Given the description of an element on the screen output the (x, y) to click on. 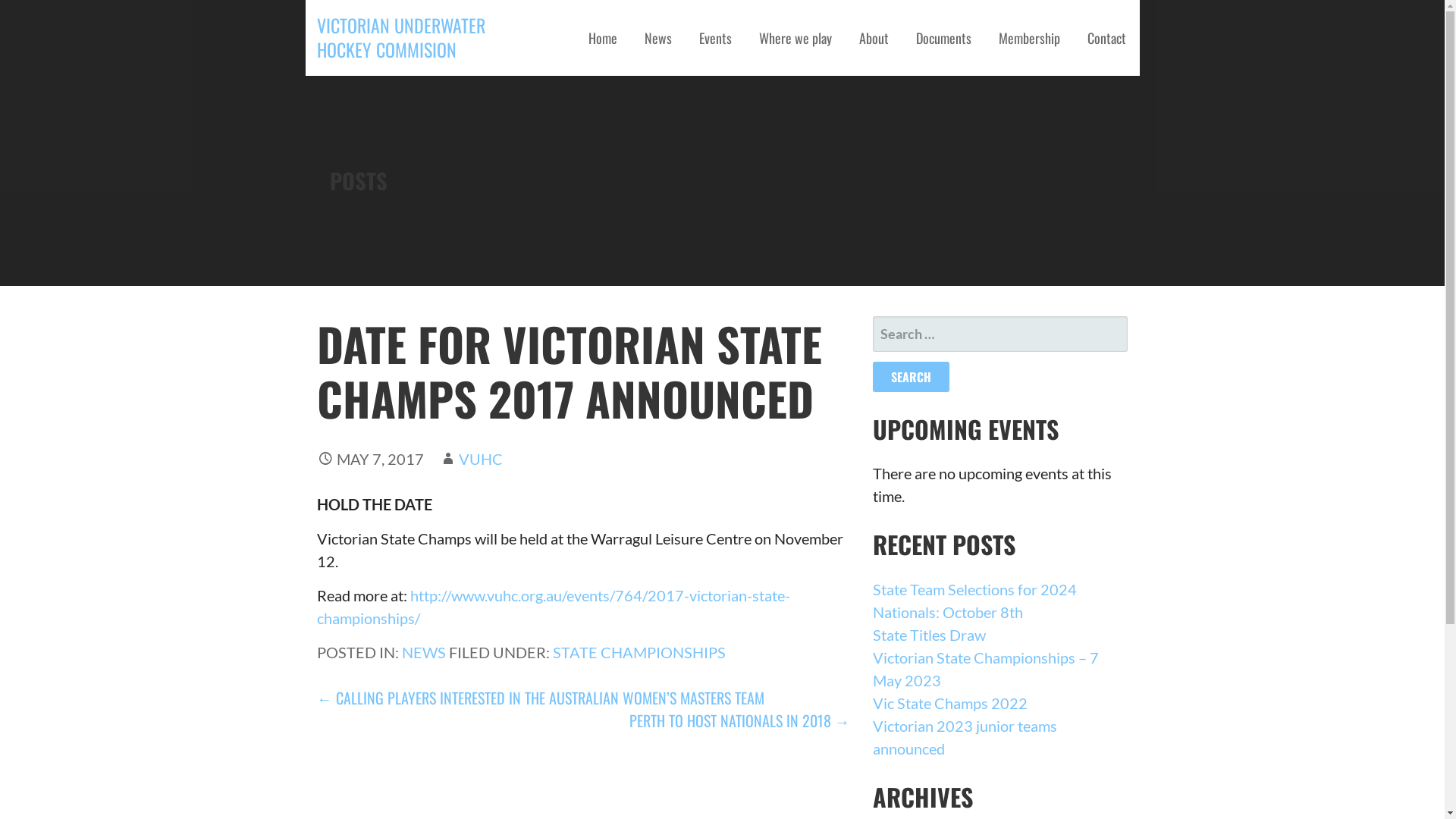
News Element type: text (657, 37)
About Element type: text (872, 37)
Contact Element type: text (1106, 37)
Events Element type: text (715, 37)
Home Element type: text (602, 37)
Membership Element type: text (1028, 37)
STATE CHAMPIONSHIPS Element type: text (638, 652)
Where we play Element type: text (794, 37)
Documents Element type: text (943, 37)
Vic State Champs 2022 Element type: text (949, 702)
State Titles Draw Element type: text (928, 634)
Search Element type: text (910, 376)
VICTORIAN UNDERWATER HOCKEY COMMISION Element type: text (400, 36)
NEWS Element type: text (423, 652)
Victorian 2023 junior teams announced Element type: text (964, 736)
VUHC Element type: text (480, 458)
State Team Selections for 2024 Nationals: October 8th Element type: text (974, 600)
